Given the description of an element on the screen output the (x, y) to click on. 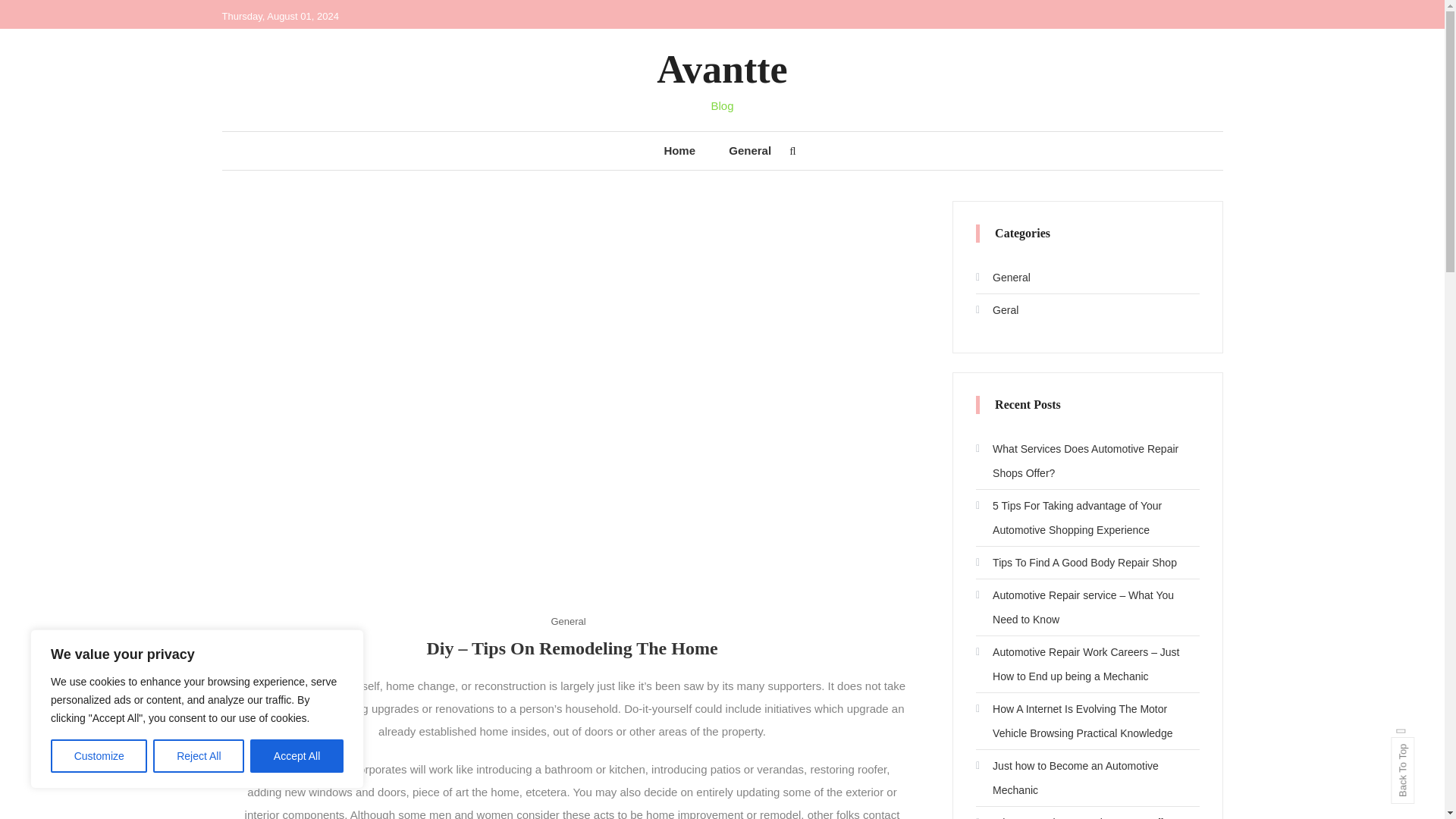
Avantte (721, 68)
Geral (996, 310)
Customize (98, 756)
Home (678, 150)
What Services Does Automotive Repair Shops Offer? (1086, 460)
General (567, 620)
Accept All (296, 756)
General (1002, 277)
General (749, 150)
Reject All (198, 756)
